Given the description of an element on the screen output the (x, y) to click on. 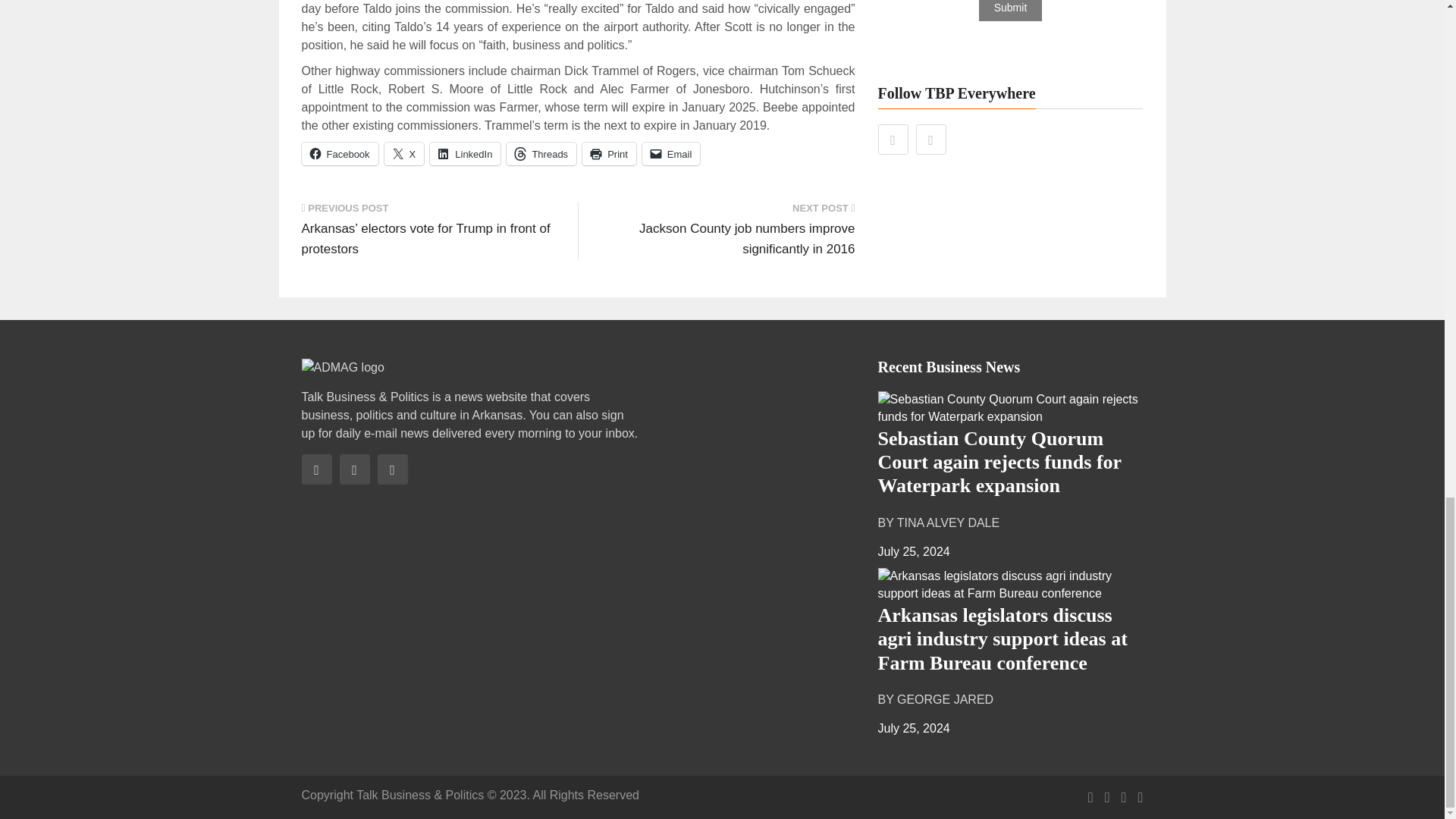
Click to share on LinkedIn (464, 153)
Click to print (609, 153)
Click to share on Threads (541, 153)
Click to share on X (404, 153)
Click to share on Facebook (339, 153)
